Given the description of an element on the screen output the (x, y) to click on. 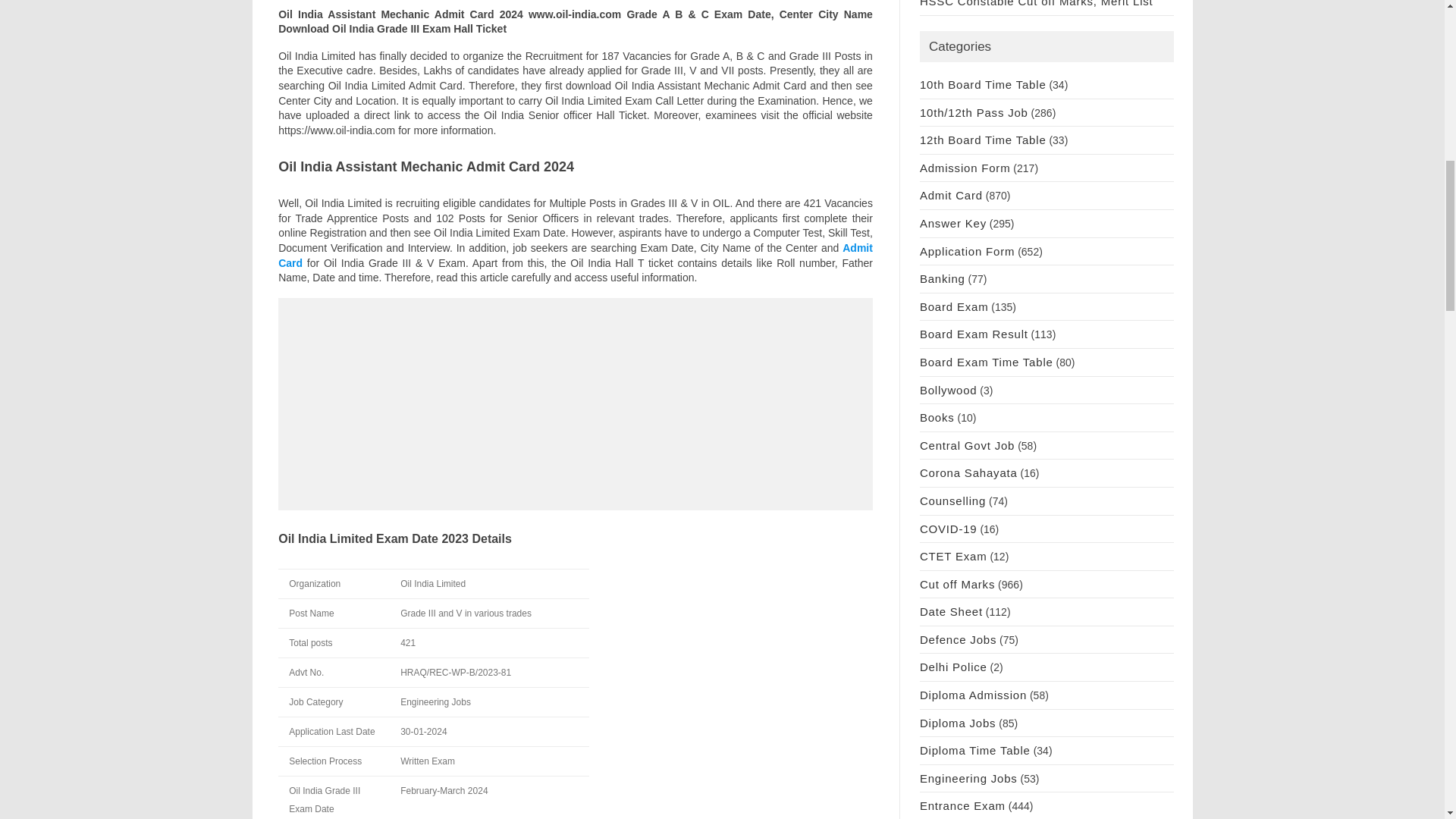
10th Board Time Table (983, 83)
12th Board Time Table (983, 139)
Admit Card (575, 255)
Admission Form (965, 167)
